Given the description of an element on the screen output the (x, y) to click on. 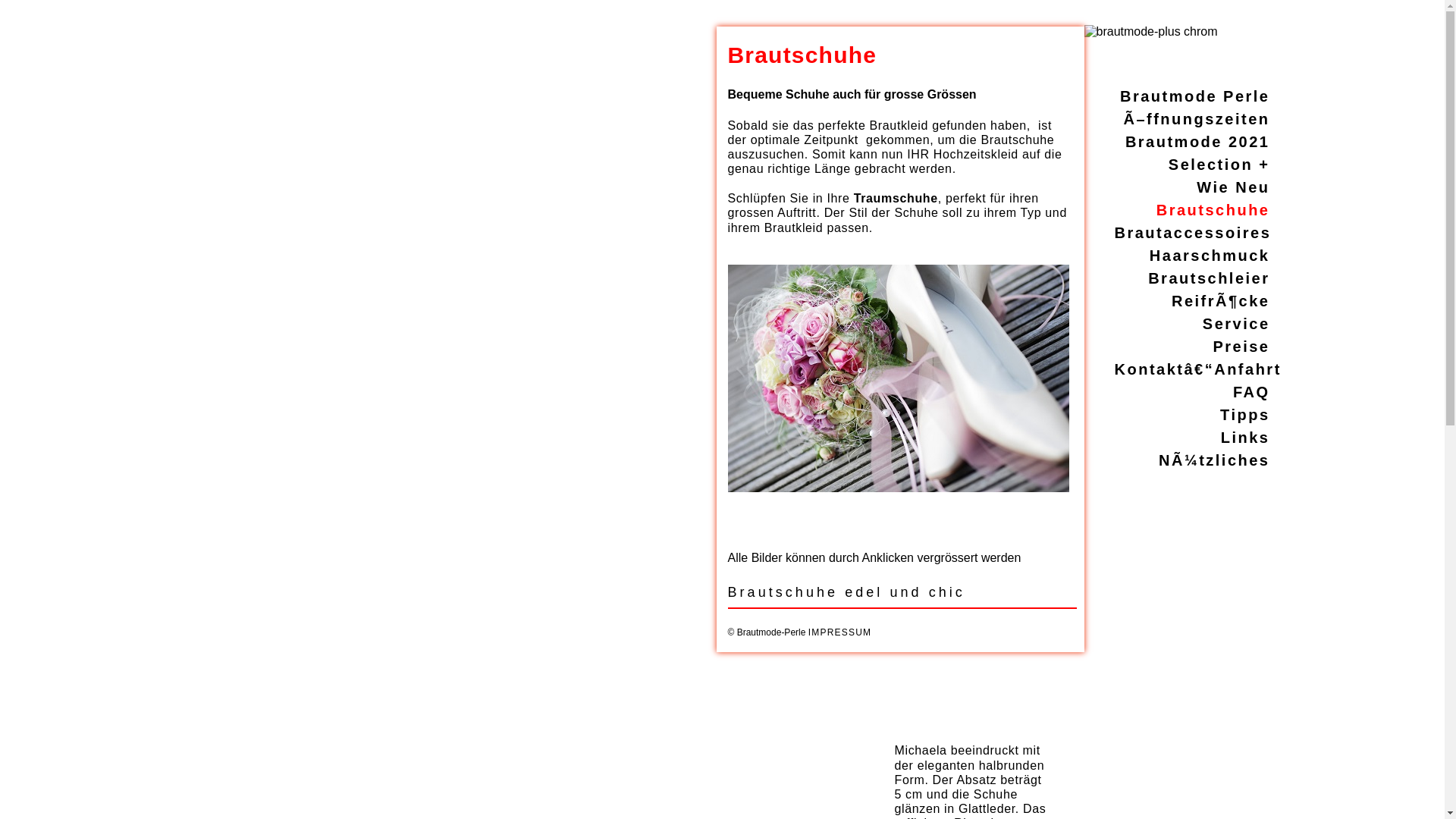
FAQ Element type: text (1251, 391)
Links Element type: text (1245, 437)
Preise Element type: text (1240, 346)
IMPRESSUM Element type: text (839, 632)
Tipps Element type: text (1244, 414)
Service Element type: text (1236, 323)
Selection + Element type: text (1219, 164)
Brautmode 2021 Element type: text (1197, 141)
Brautaccessoires Element type: text (1192, 232)
Haarschmuck Element type: text (1209, 255)
Brautschleier Element type: text (1208, 277)
Brautschuhe edel und chic Element type: text (902, 592)
Wie Neu Element type: text (1232, 186)
Brautschuhe Element type: text (1213, 209)
Brautmode Perle Element type: text (1195, 95)
